Given the description of an element on the screen output the (x, y) to click on. 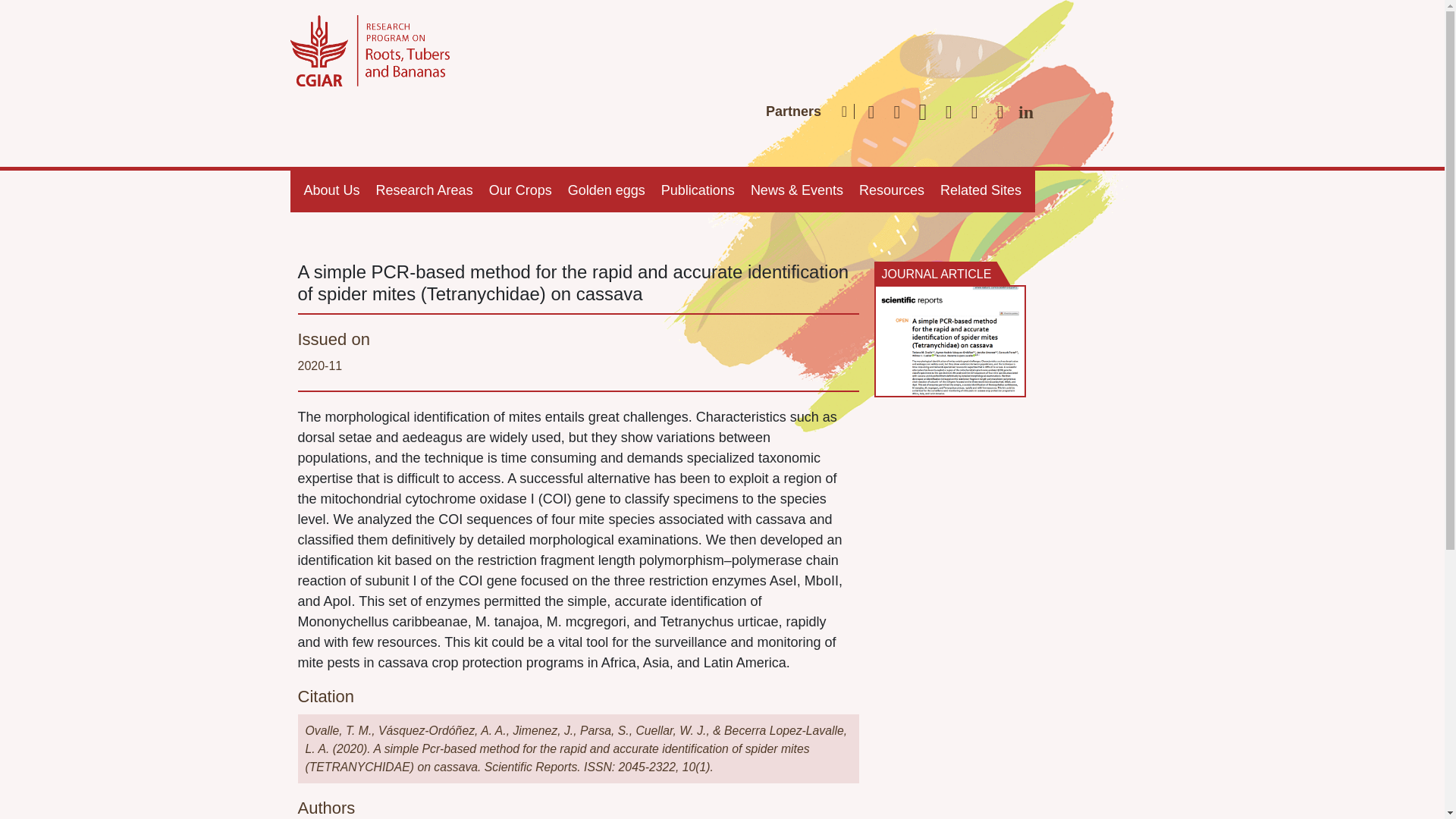
Facebook (901, 112)
Golden eggs (606, 190)
Slideshare (1004, 112)
Linkedin (1029, 112)
Flickr (952, 112)
Publications (698, 190)
Partners (793, 112)
Partners (793, 112)
YouTube (978, 112)
Twitter (927, 112)
RSS (875, 112)
Flickr (952, 112)
Linkedin (1029, 112)
YouTube (978, 112)
Facebook (901, 112)
